Given the description of an element on the screen output the (x, y) to click on. 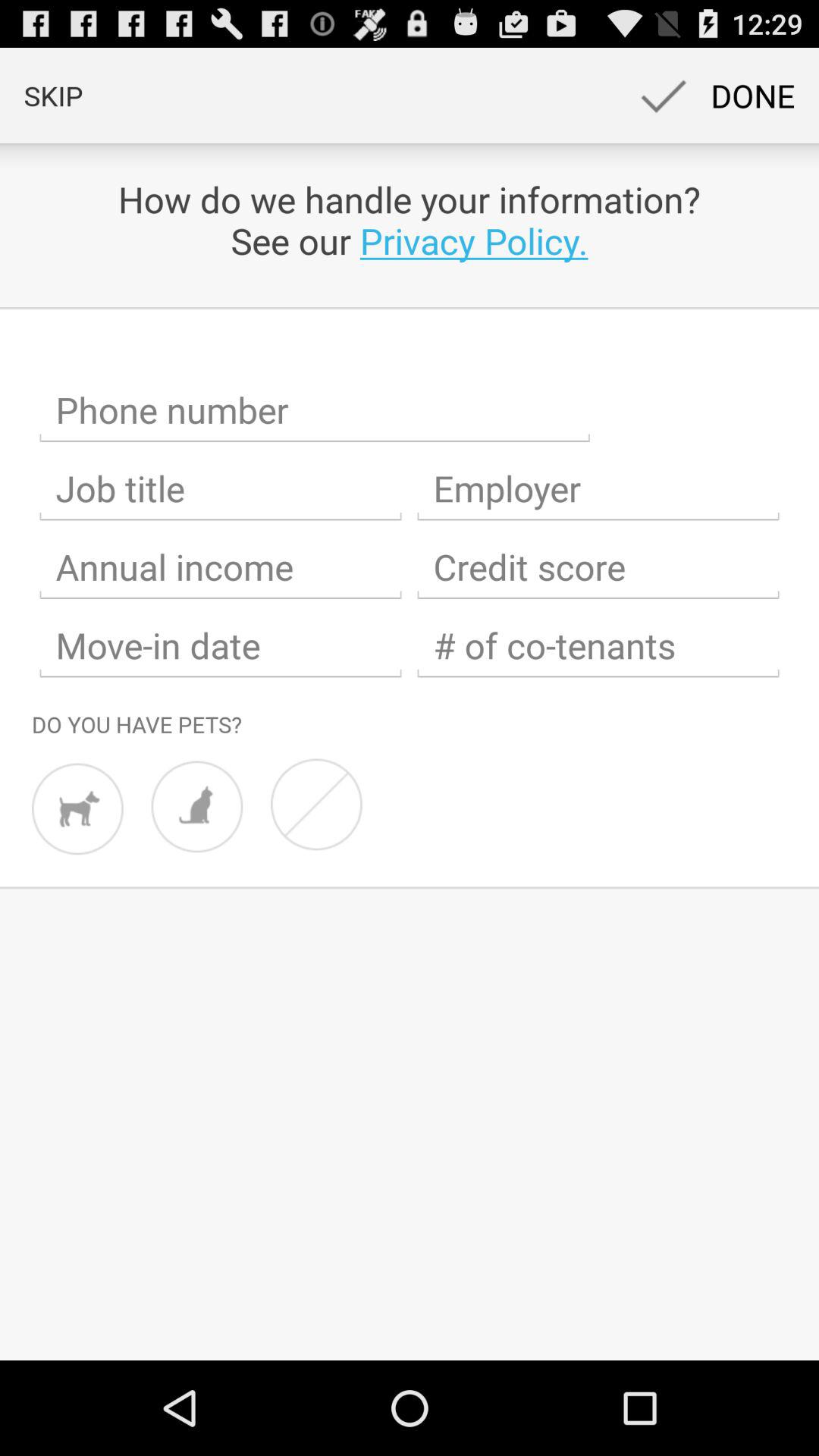
enter employer name (598, 488)
